Given the description of an element on the screen output the (x, y) to click on. 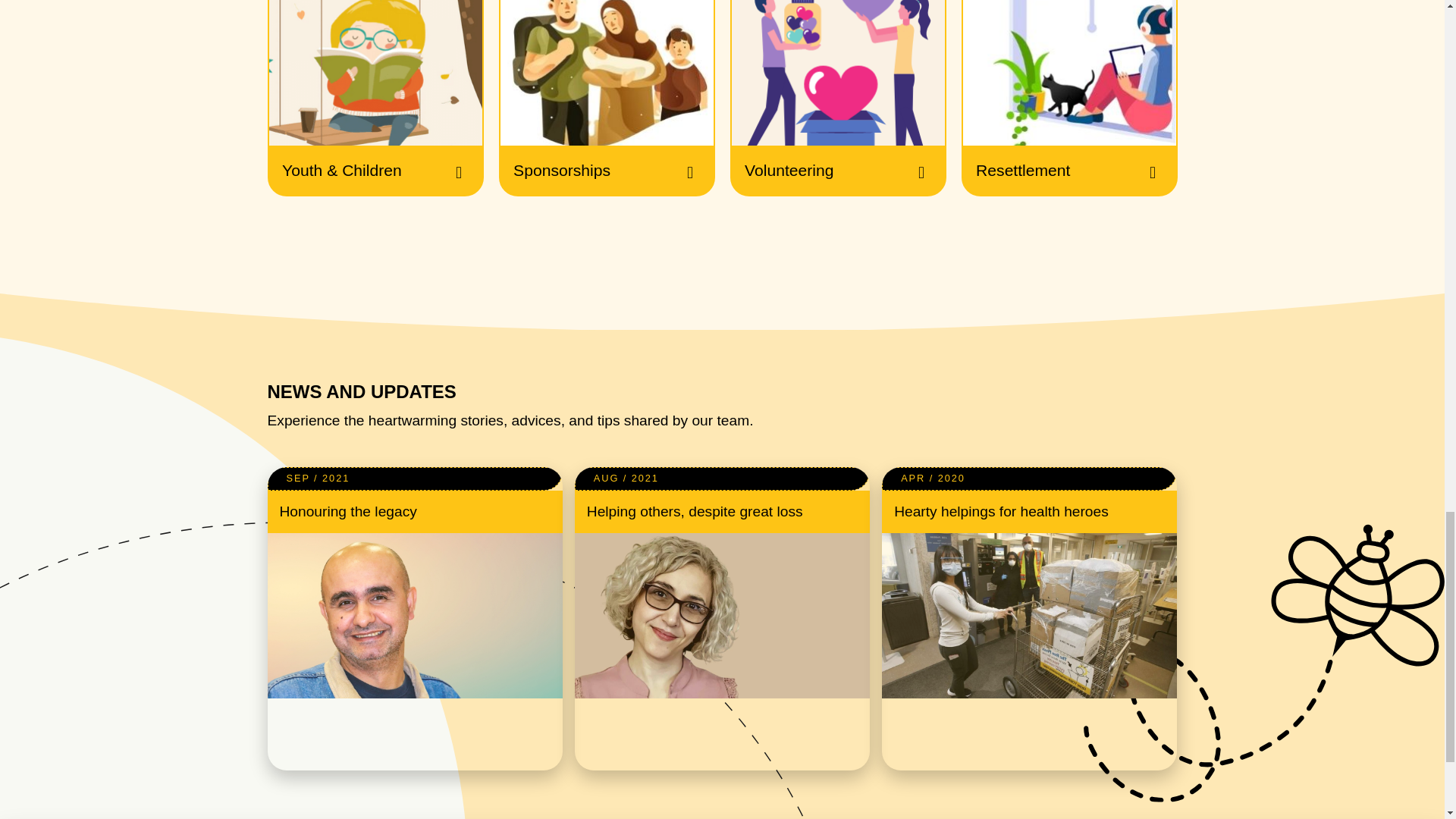
Sponsorships (606, 98)
Resettlement (1068, 98)
Volunteering (836, 98)
